Given the description of an element on the screen output the (x, y) to click on. 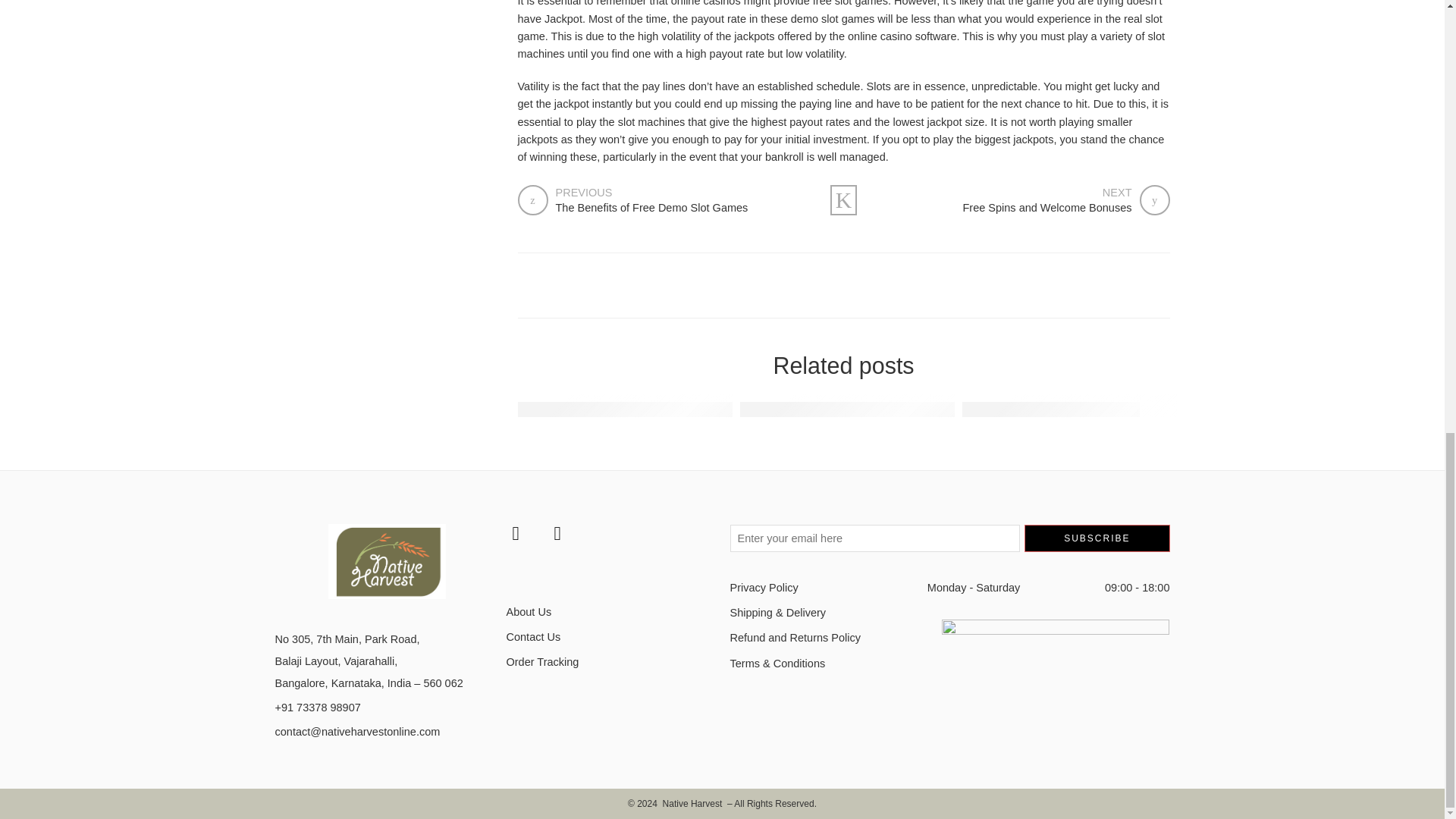
SUBSCRIBE (1097, 538)
Brazzers Gonzo Porno Videos (1023, 200)
How do No deposit Mobile Casino Incentives Actually work? (1051, 408)
